Given the description of an element on the screen output the (x, y) to click on. 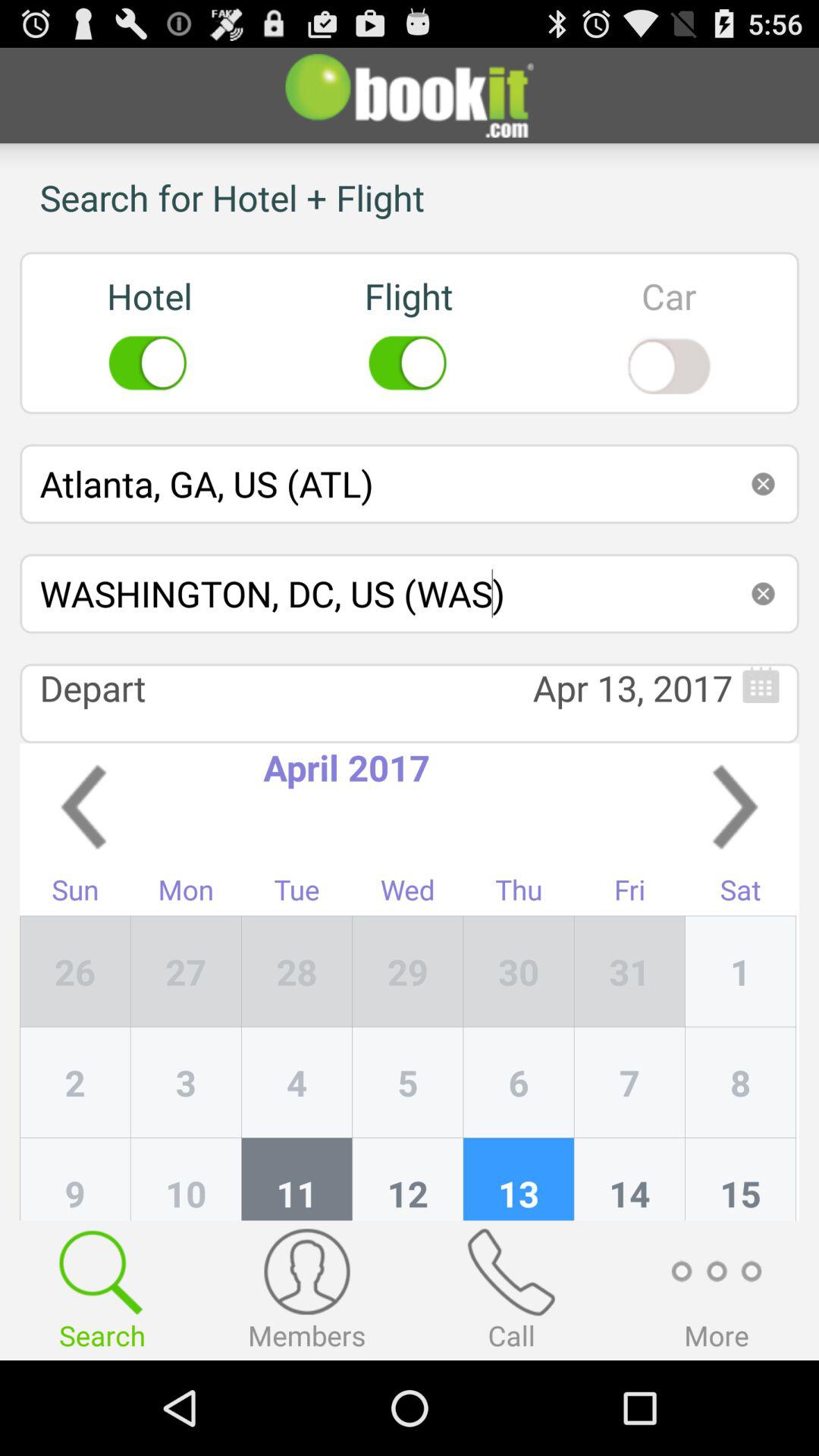
choose the item to the right of thu icon (629, 971)
